Given the description of an element on the screen output the (x, y) to click on. 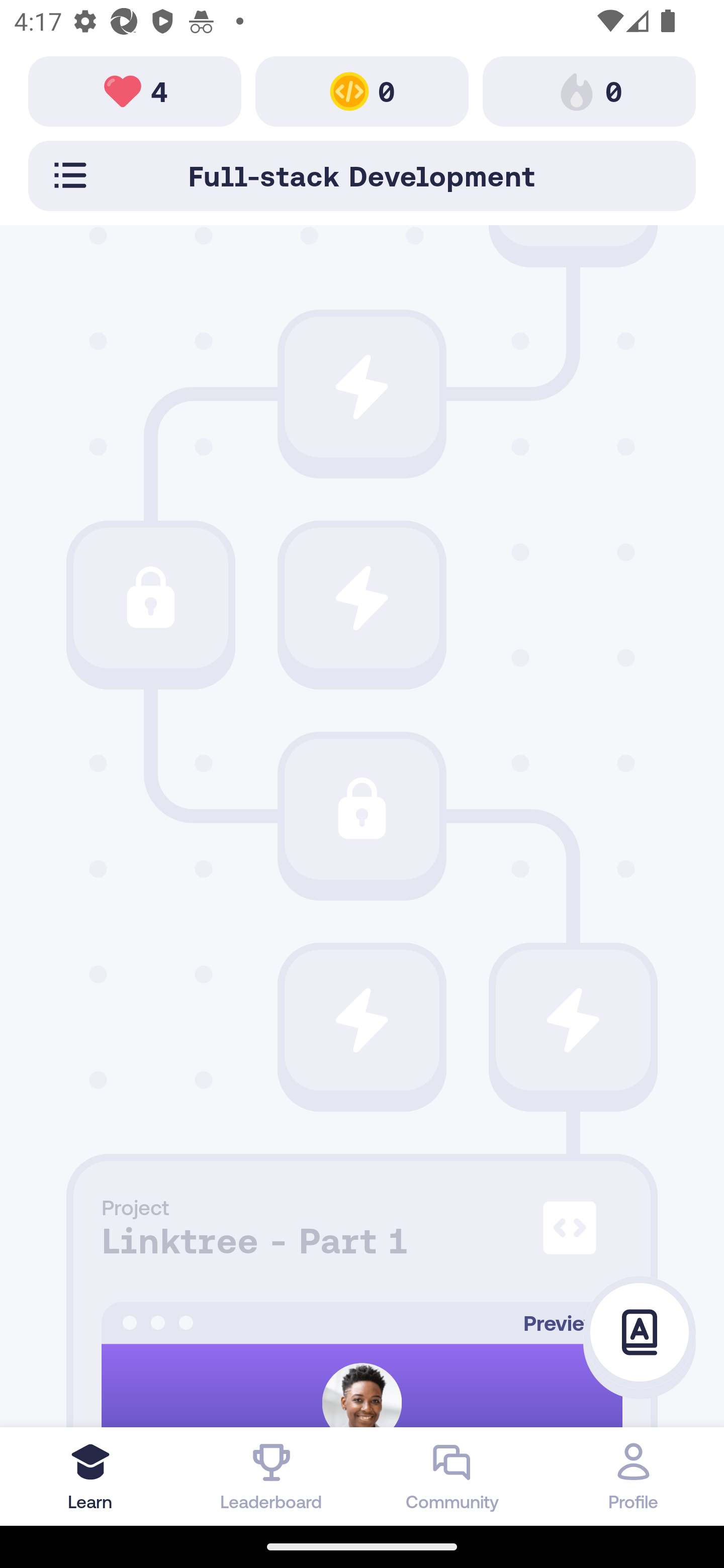
Path Toolbar Image 4 (134, 90)
Path Toolbar Image 0 (361, 90)
Path Toolbar Image 0 (588, 90)
Path Toolbar Selector Full-stack Development (361, 175)
Path Icon (361, 386)
Path Icon (150, 597)
Path Icon (361, 597)
Path Icon (361, 808)
Path Icon (361, 1020)
Path Icon (572, 1020)
Glossary Icon (639, 1332)
Leaderboard (271, 1475)
Community (452, 1475)
Profile (633, 1475)
